Given the description of an element on the screen output the (x, y) to click on. 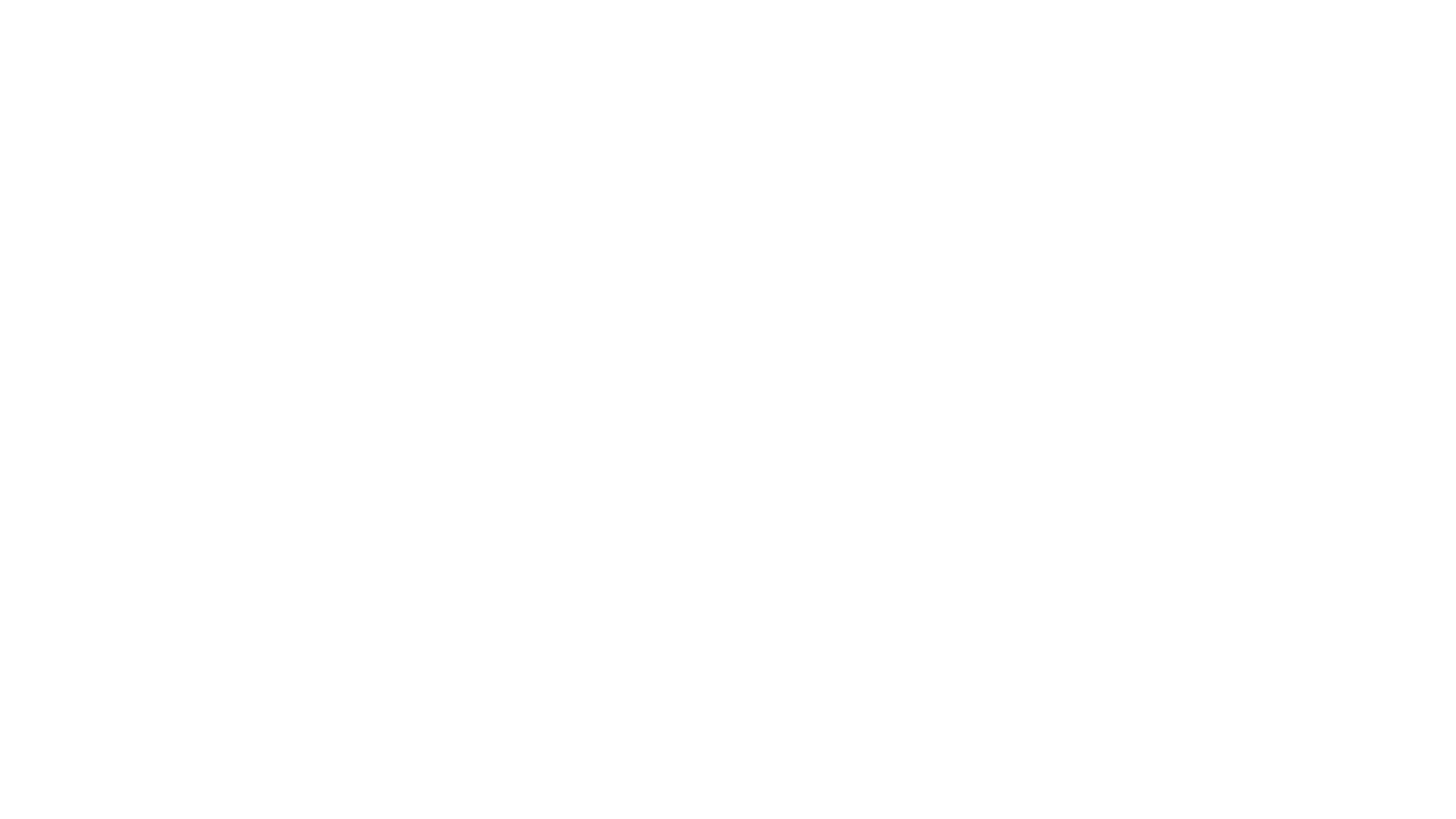
8(800)222-28-12,
8(8552)45-11-47 Element type: text (1277, 360)
8(800)222-28-12, +7(8552)45-11-47 Element type: text (1354, 12)
